Given the description of an element on the screen output the (x, y) to click on. 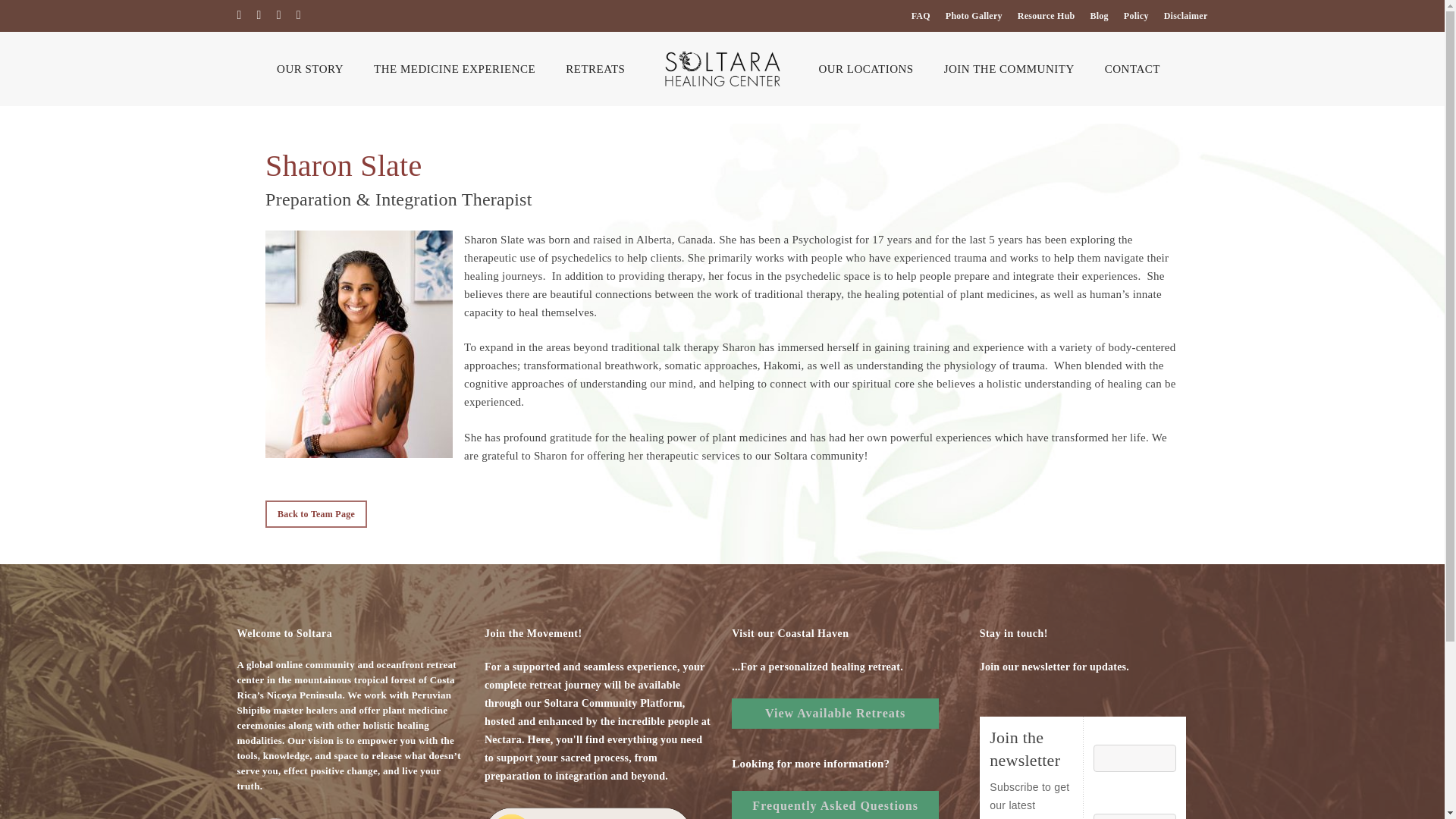
Policy (1136, 15)
OUR STORY (310, 69)
Disclaimer (1185, 15)
Photo Gallery (973, 15)
FAQ (920, 15)
Resource Hub (1046, 15)
THE MEDICINE EXPERIENCE (454, 69)
Blog (1099, 15)
RETREATS (595, 69)
